Given the description of an element on the screen output the (x, y) to click on. 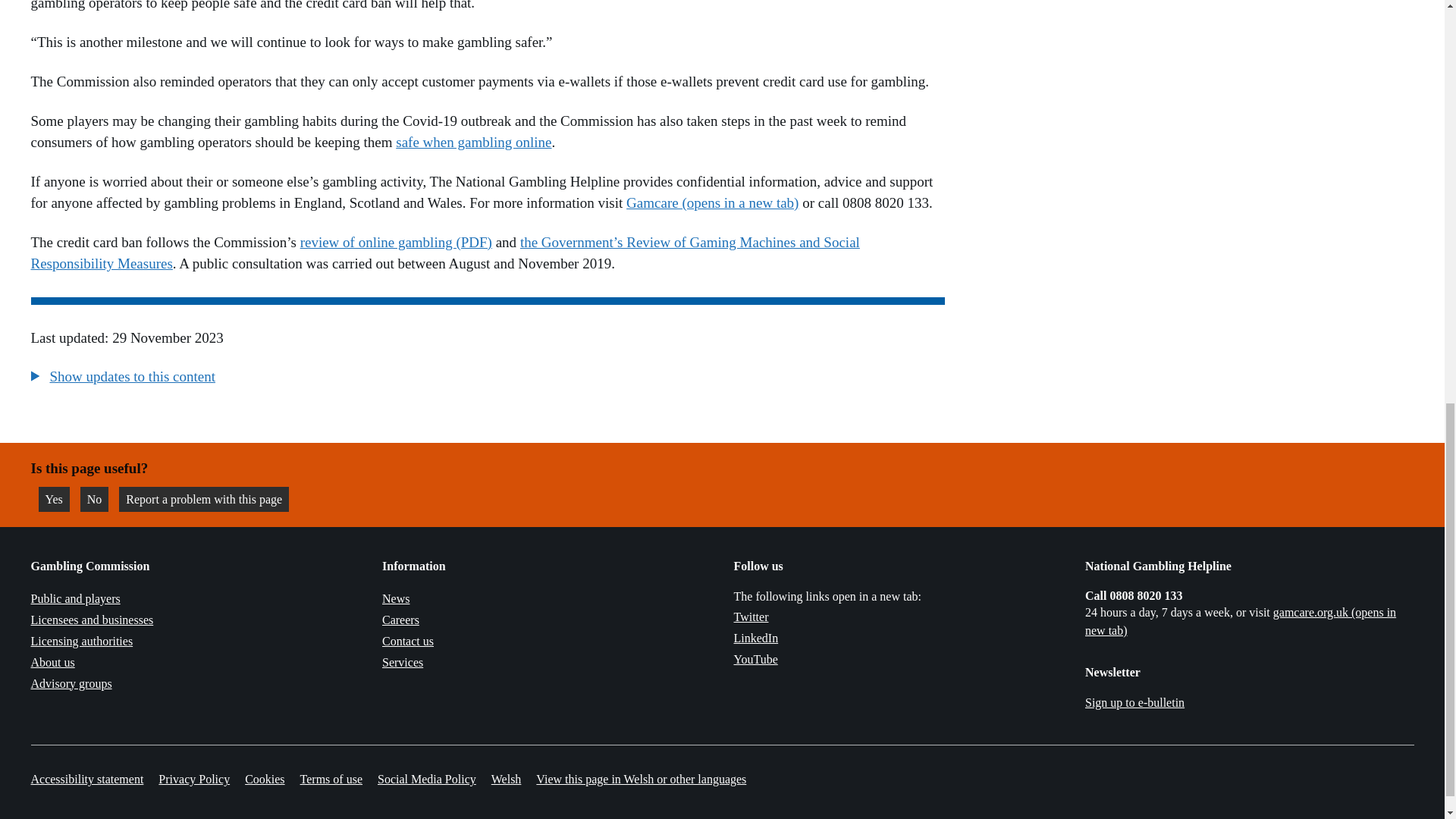
safe when gambling online (473, 141)
Link opens in a new tab (750, 616)
Link opens in a new tab (1240, 621)
Link opens in a new tab (755, 658)
Link opens in a new tab (755, 637)
